Given the description of an element on the screen output the (x, y) to click on. 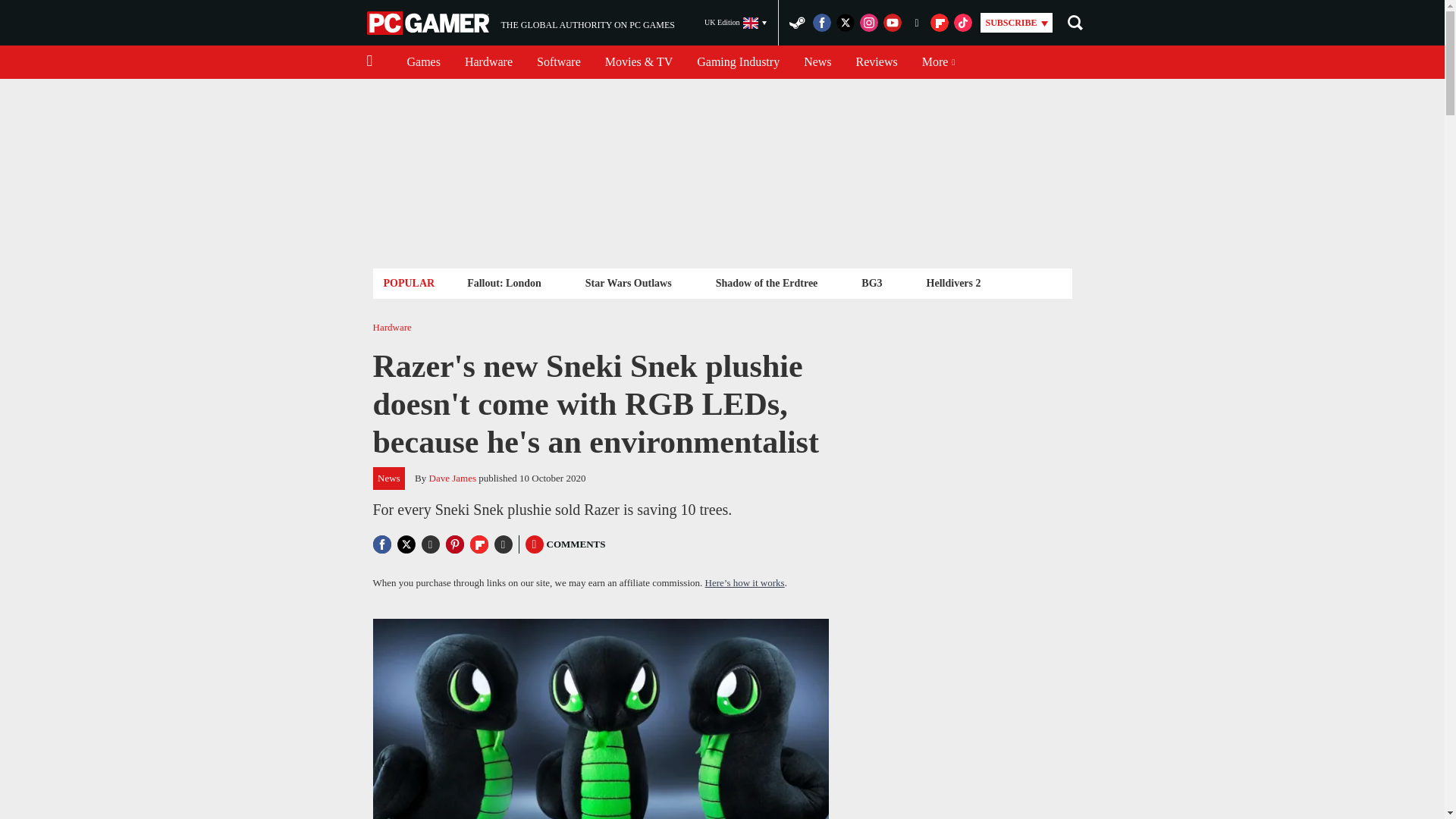
Reviews (877, 61)
UK Edition (735, 22)
News (817, 61)
Software (558, 61)
Games (422, 61)
Hardware (488, 61)
Gaming Industry (738, 61)
Star Wars Outlaws (628, 282)
Fallout: London (520, 22)
PC Gamer (504, 282)
